Given the description of an element on the screen output the (x, y) to click on. 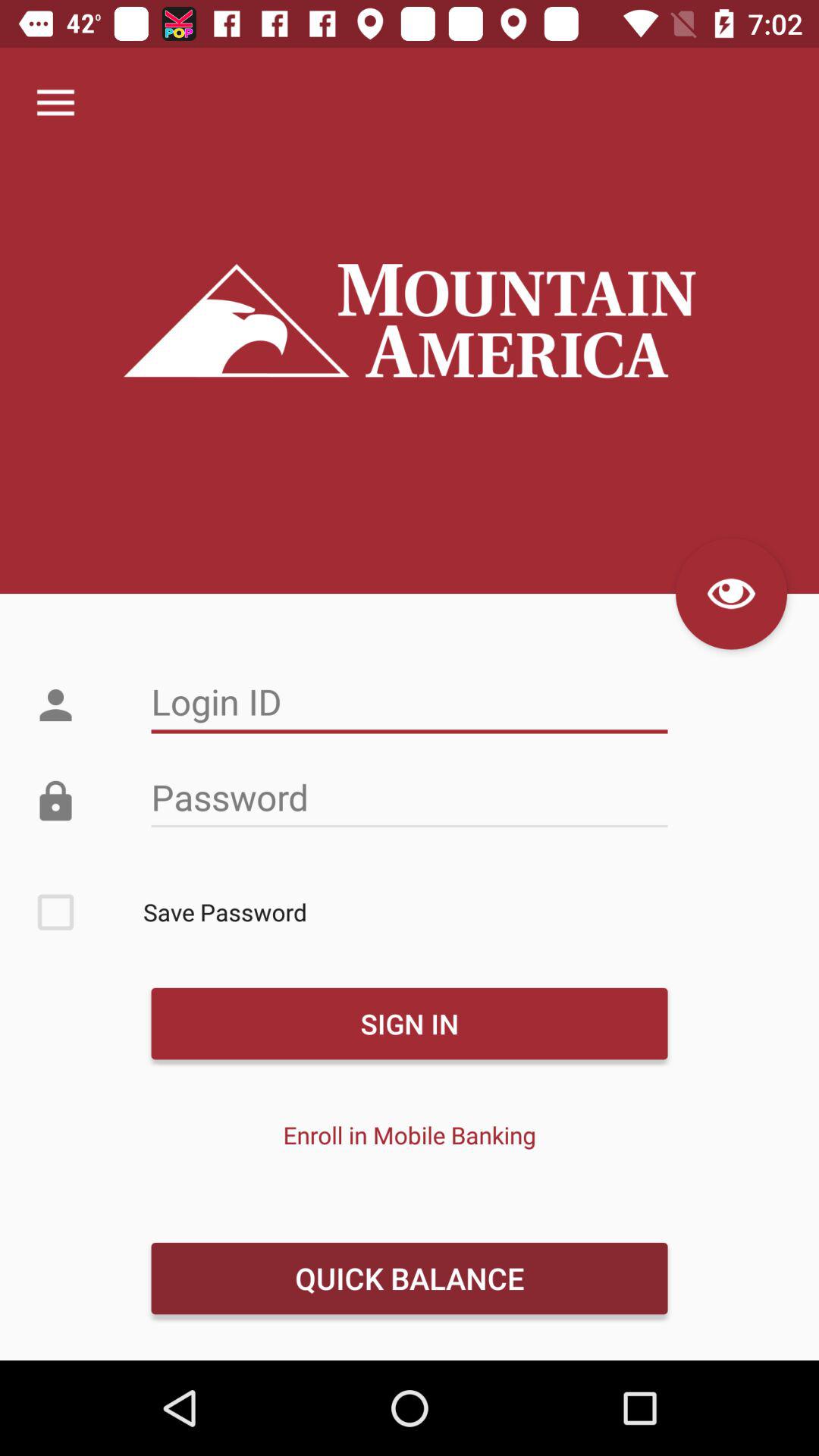
enter password (409, 797)
